Given the description of an element on the screen output the (x, y) to click on. 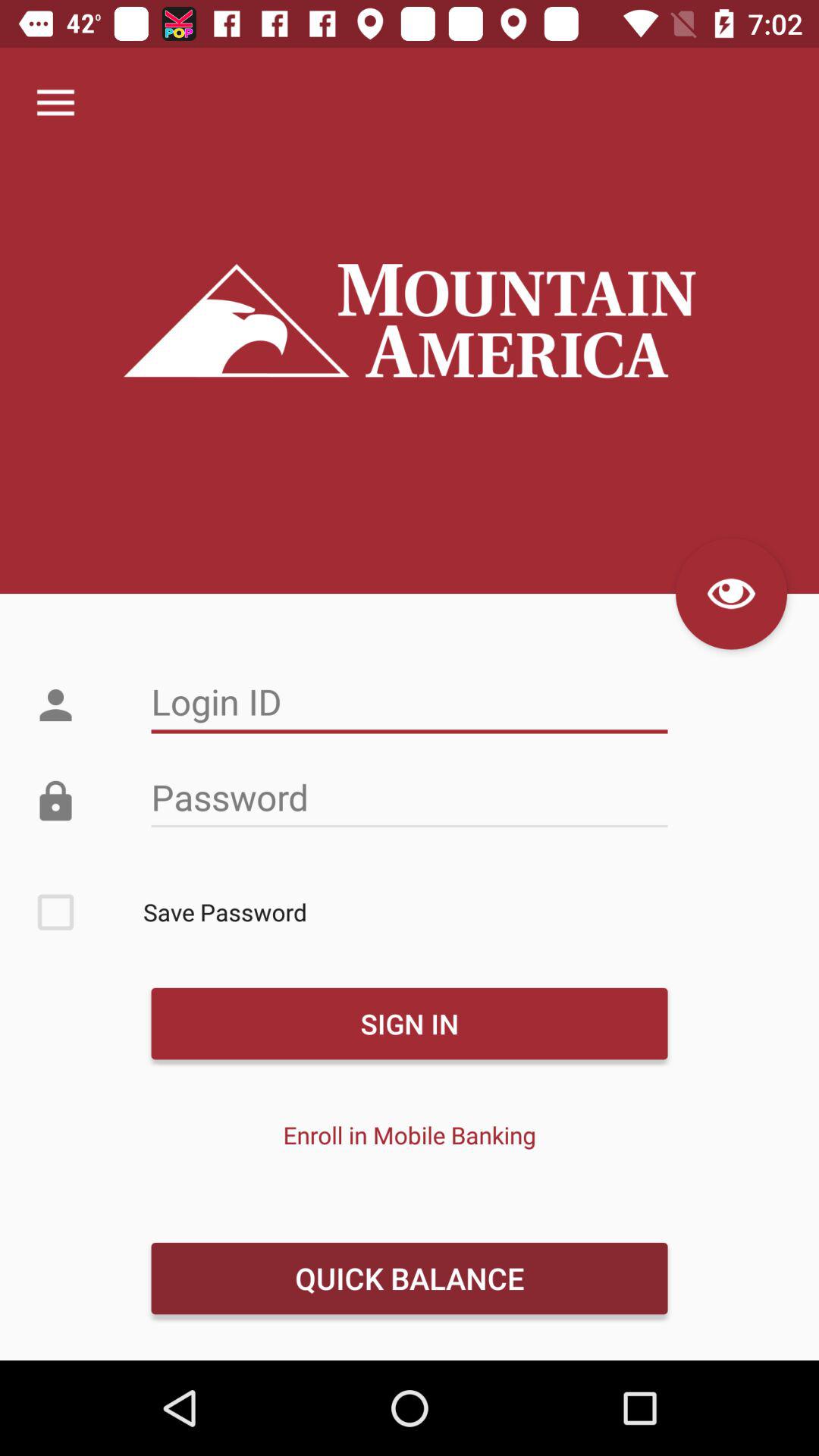
enter password (409, 797)
